Given the description of an element on the screen output the (x, y) to click on. 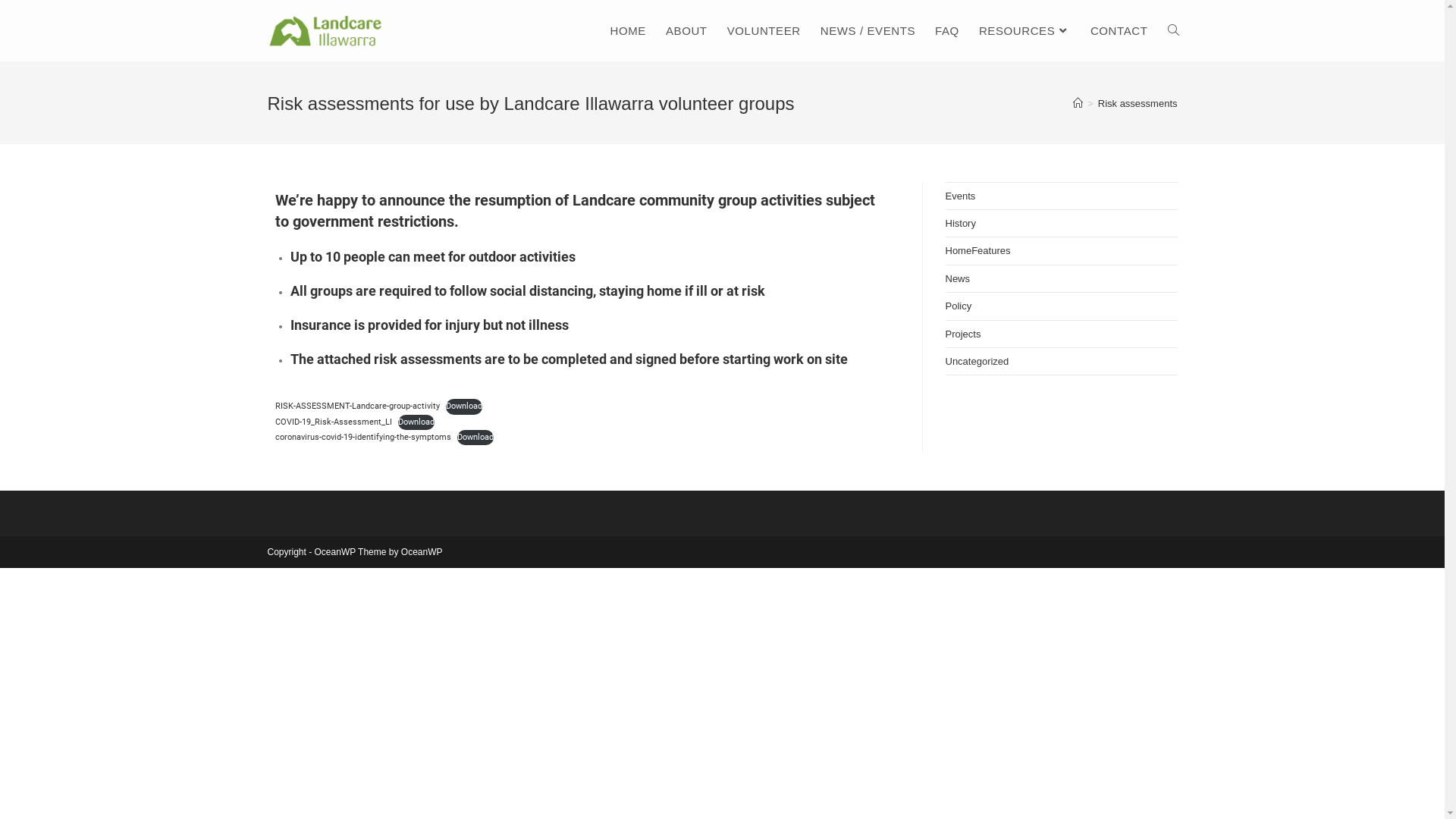
Download Element type: text (416, 421)
Download Element type: text (463, 406)
FAQ Element type: text (947, 30)
coronavirus-covid-19-identifying-the-symptoms Element type: text (362, 437)
HOME Element type: text (627, 30)
Events Element type: text (959, 195)
COVID-19_Risk-Assessment_LI Element type: text (332, 421)
Uncategorized Element type: text (976, 361)
Download Element type: text (475, 437)
ABOUT Element type: text (686, 30)
NEWS / EVENTS Element type: text (867, 30)
HomeFeatures Element type: text (977, 250)
News Element type: text (956, 278)
History Element type: text (959, 223)
Risk assessments Element type: text (1137, 103)
RISK-ASSESSMENT-Landcare-group-activity Element type: text (356, 406)
Policy Element type: text (957, 305)
Projects Element type: text (962, 333)
CONTACT Element type: text (1118, 30)
RESOURCES Element type: text (1024, 30)
VOLUNTEER Element type: text (763, 30)
